Given the description of an element on the screen output the (x, y) to click on. 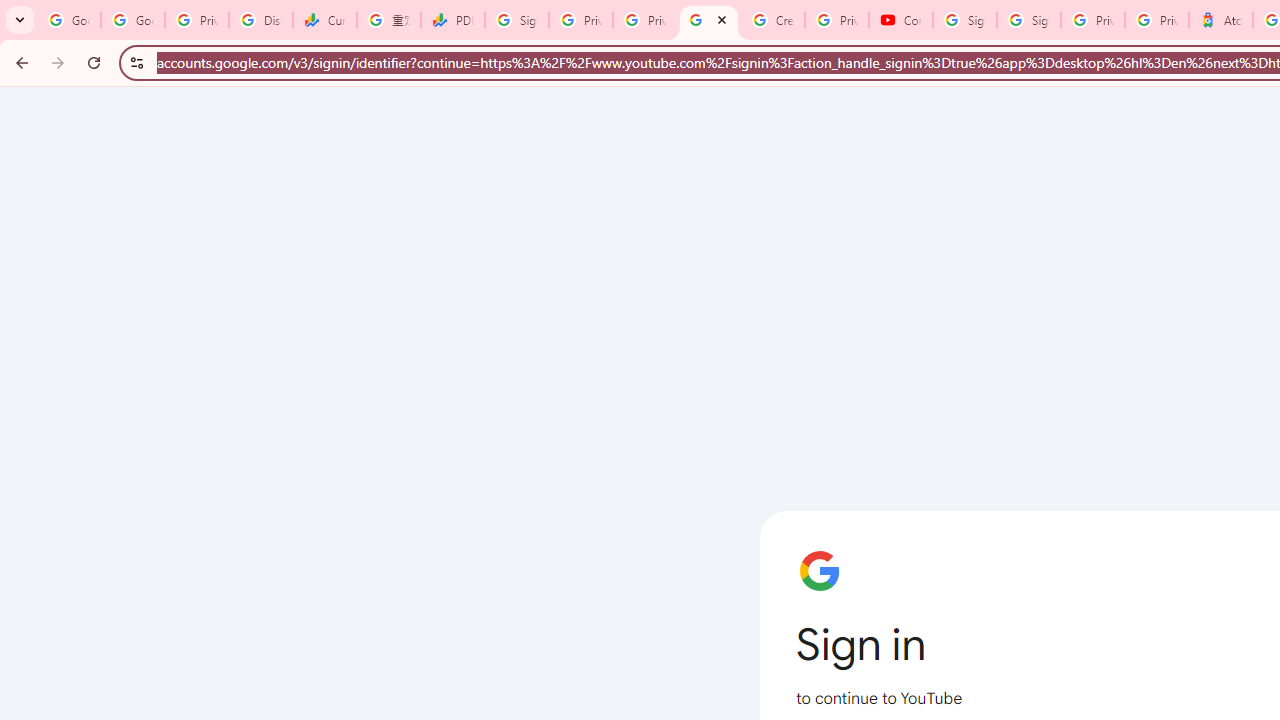
Atour Hotel - Google hotels (1221, 20)
Currencies - Google Finance (325, 20)
Privacy Checkup (645, 20)
Google Workspace Admin Community (69, 20)
